Given the description of an element on the screen output the (x, y) to click on. 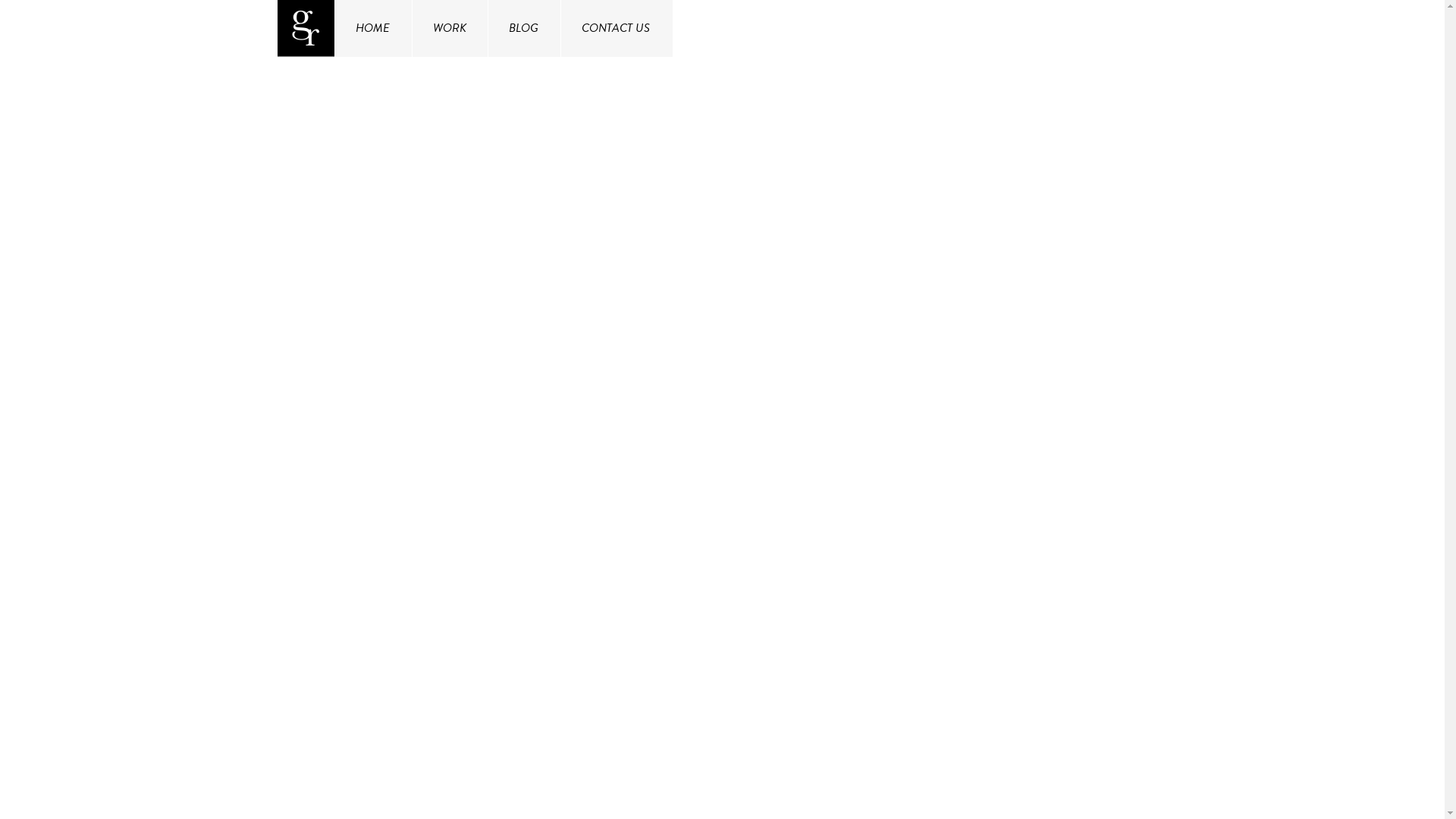
CONTACT US Element type: text (615, 28)
BLOG Element type: text (523, 28)
WORK Element type: text (449, 28)
Graphiton Element type: text (307, 18)
HOME Element type: text (372, 28)
